Given the description of an element on the screen output the (x, y) to click on. 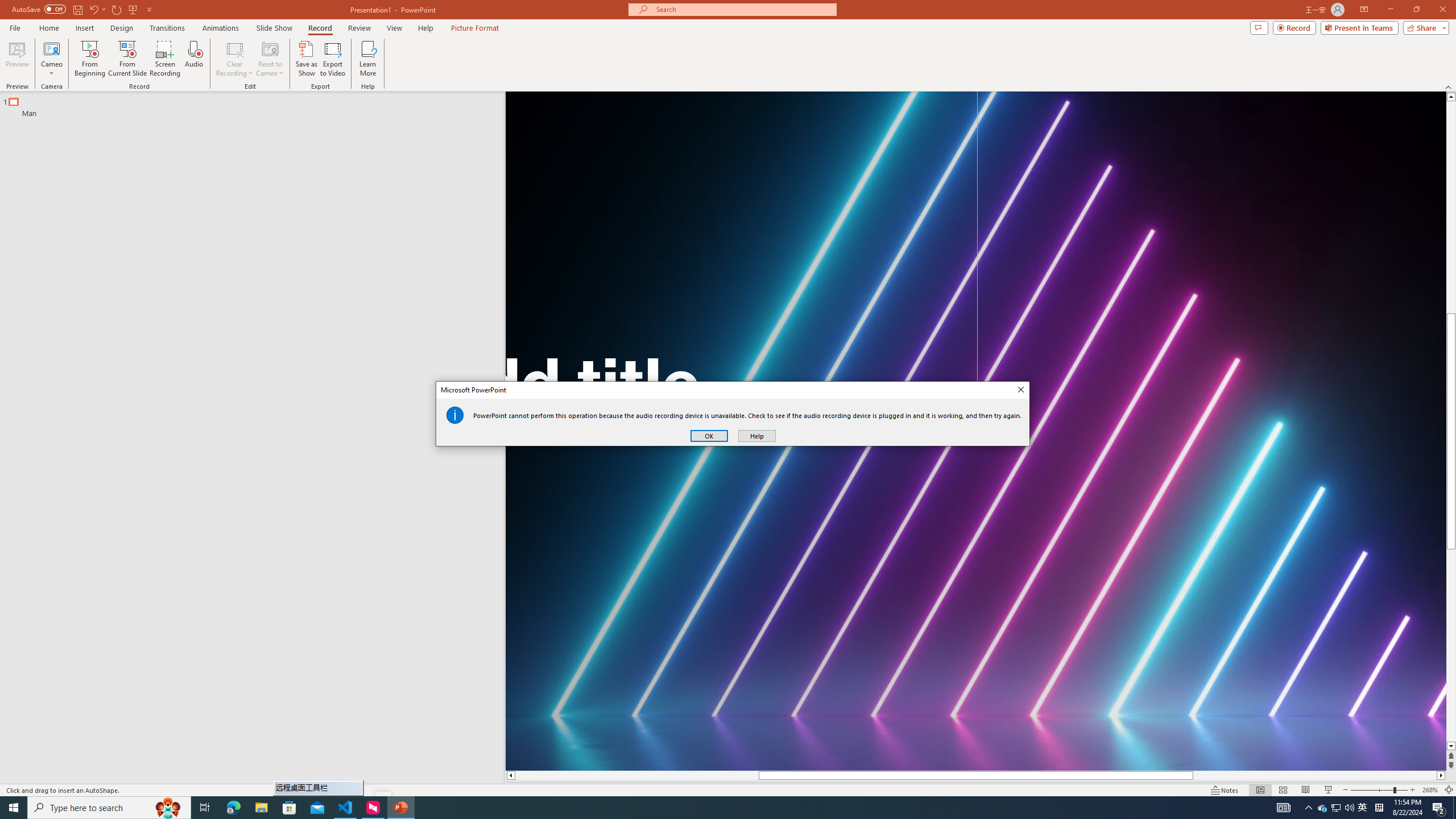
Class: Static (454, 415)
